Given the description of an element on the screen output the (x, y) to click on. 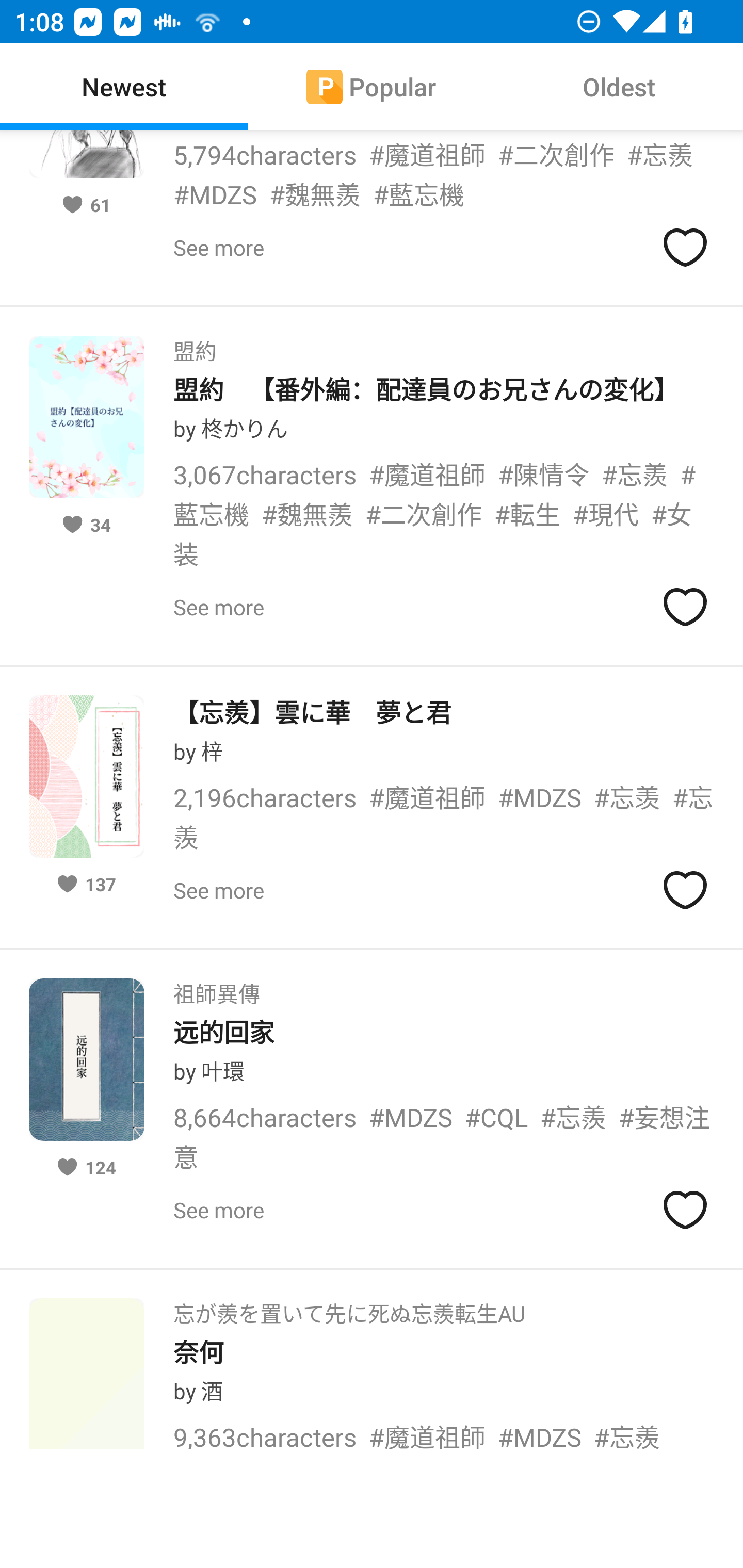
[P] Popular (371, 86)
Oldest (619, 86)
盟約 (194, 345)
祖師異傳 (216, 987)
忘が羨を置いて先に死ぬ忘羨転生AU (349, 1307)
